Given the description of an element on the screen output the (x, y) to click on. 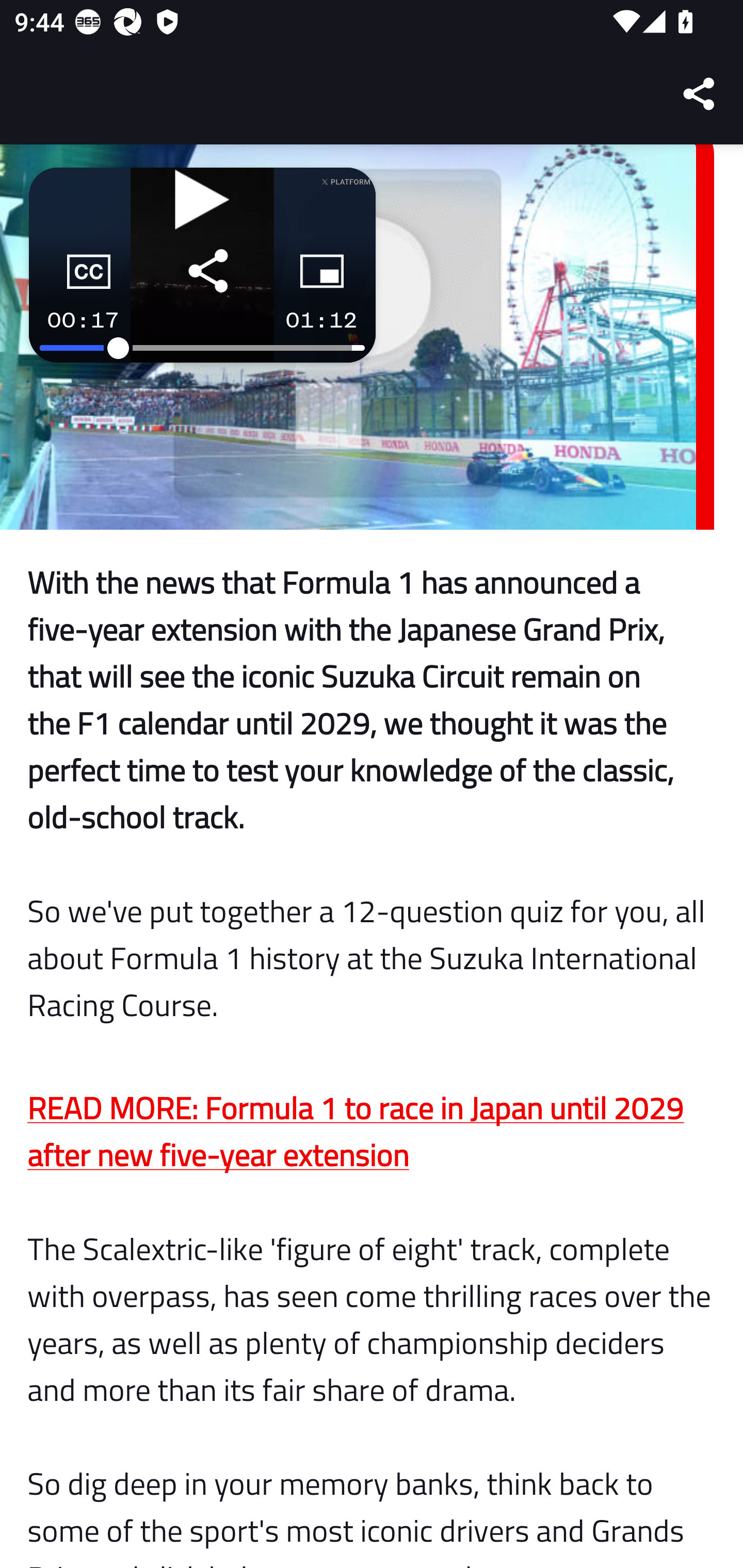
Share (699, 93)
